Given the description of an element on the screen output the (x, y) to click on. 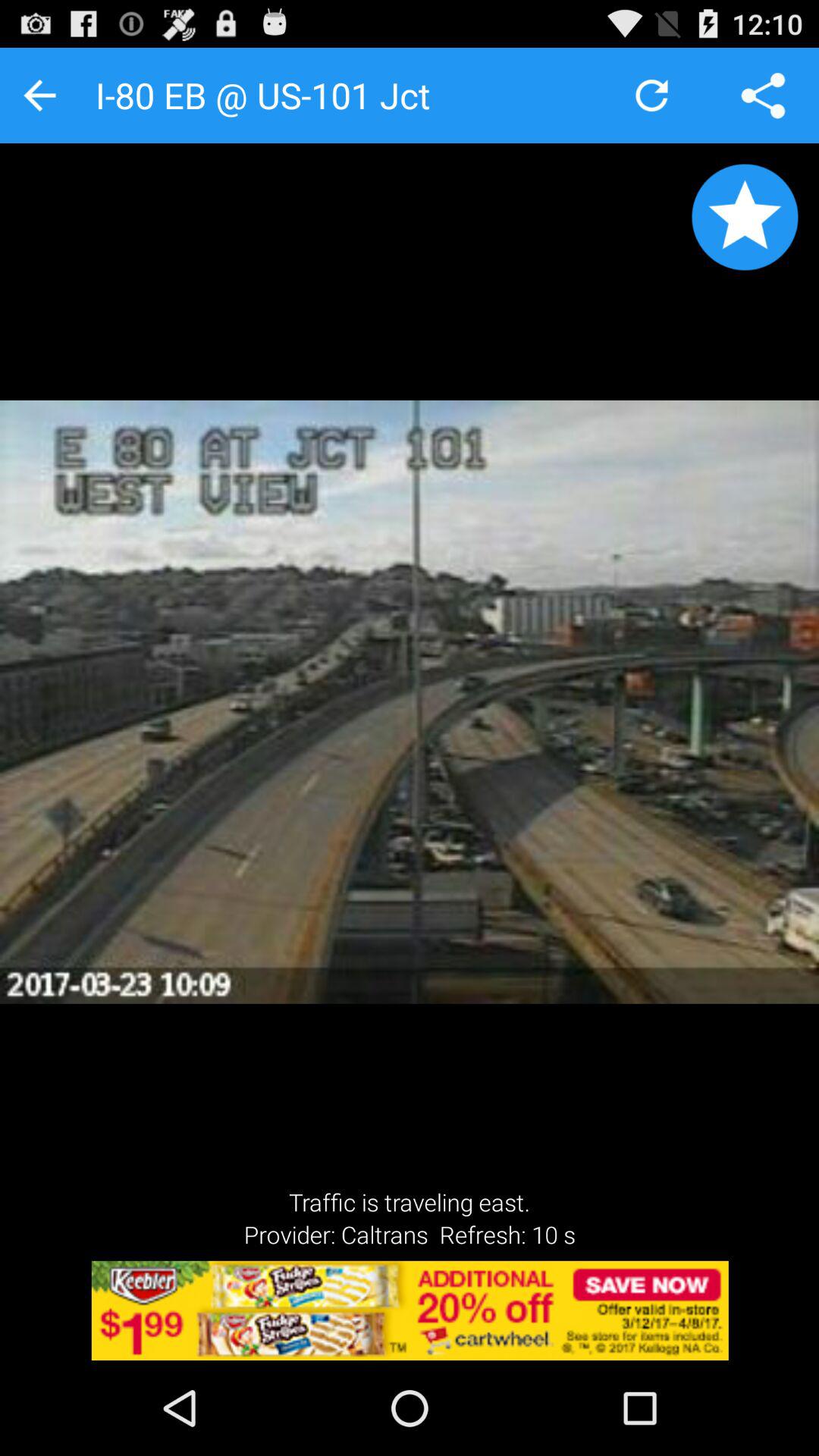
refresh (651, 95)
